Given the description of an element on the screen output the (x, y) to click on. 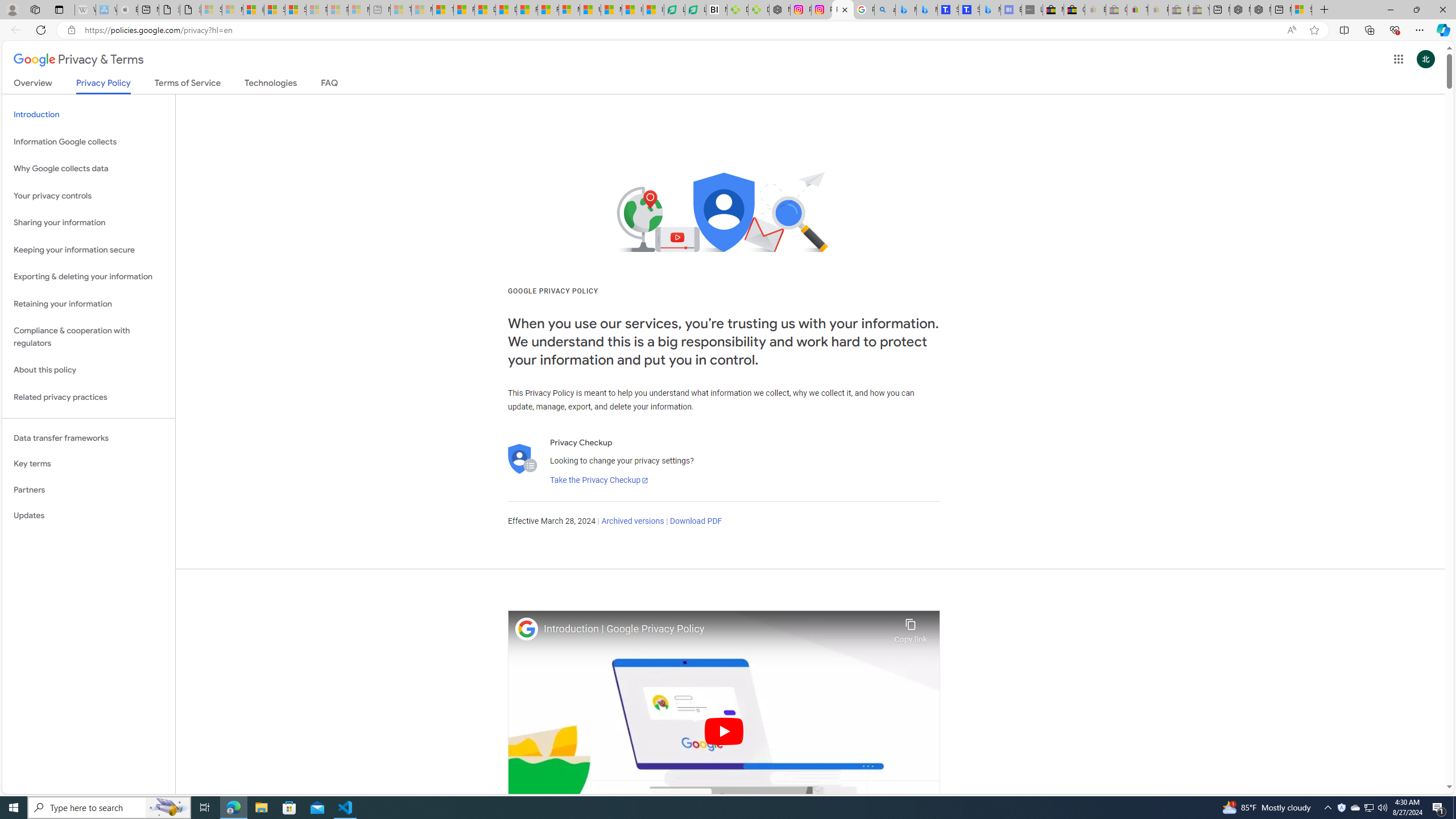
Data transfer frameworks (88, 438)
Partners (88, 489)
Information Google collects (88, 141)
Updates (88, 515)
Updates (88, 515)
Press Room - eBay Inc. - Sleeping (1178, 9)
Related privacy practices (88, 397)
Shangri-La Bangkok, Hotel reviews and Room rates (968, 9)
